Given the description of an element on the screen output the (x, y) to click on. 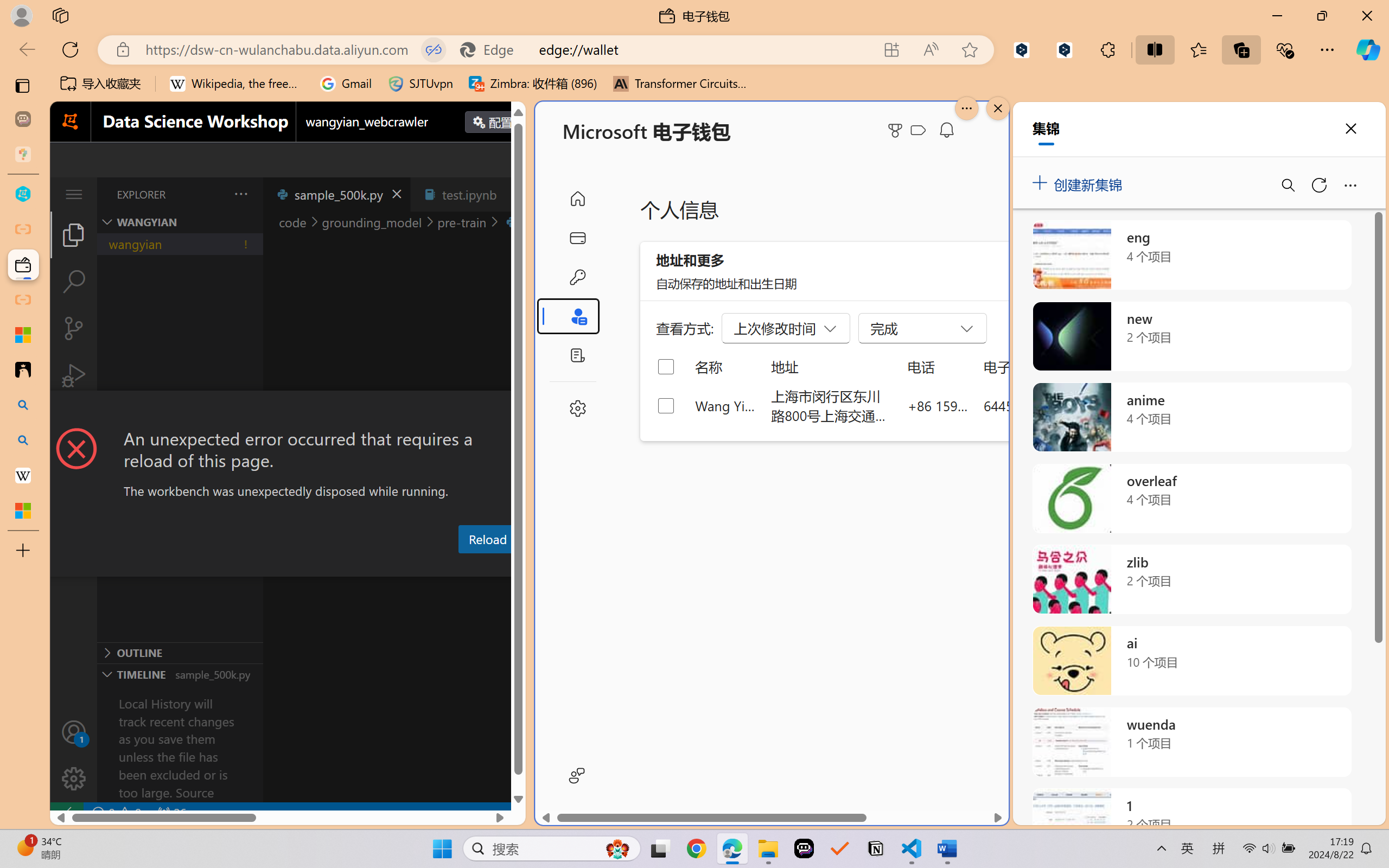
No Problems (115, 812)
Class: menubar compact overflow-menu-only (73, 194)
Gmail (345, 83)
Explorer actions (212, 194)
